Given the description of an element on the screen output the (x, y) to click on. 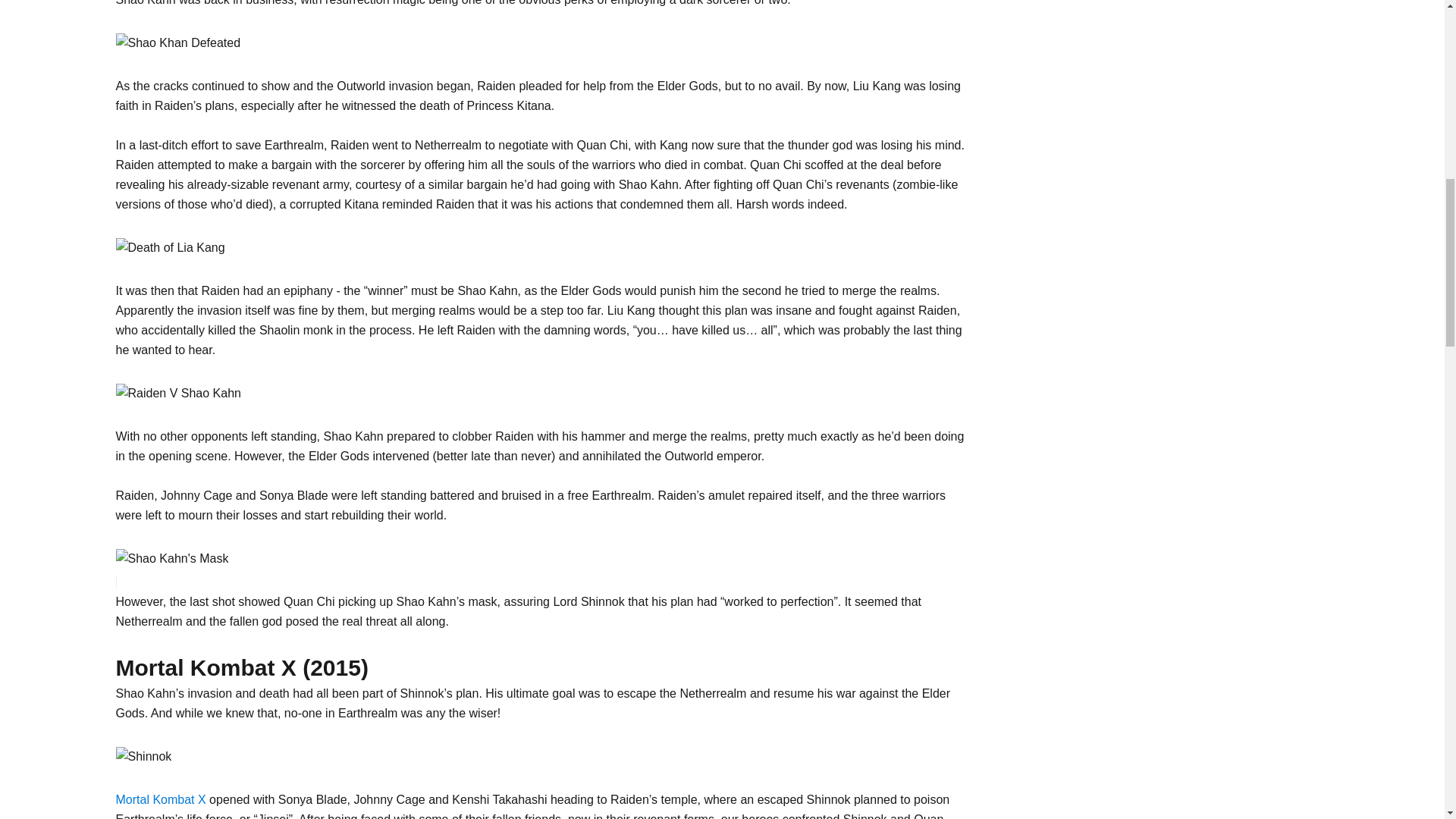
Mortal Kombat X (160, 799)
Death of Lia Kang (169, 247)
Shao Khan Defeated (177, 43)
Shao Kahn's Mask (171, 558)
Mortal Kombat X (143, 756)
Raiden V Shao Kahn (177, 393)
